Given the description of an element on the screen output the (x, y) to click on. 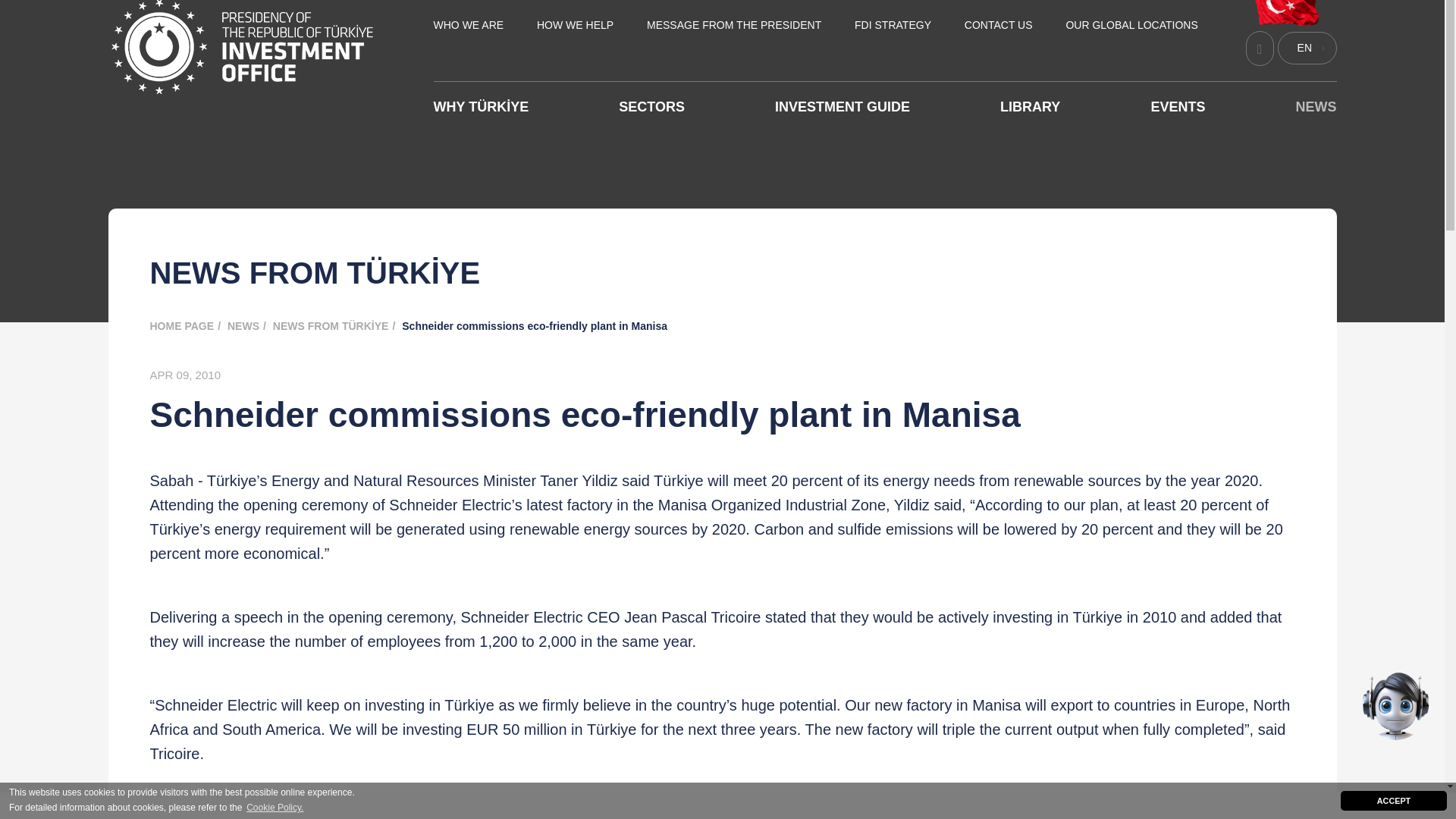
SECTORS (651, 106)
MESSAGE FROM THE PRESIDENT (733, 25)
EVENTS (1177, 106)
LIBRARY (1029, 106)
Cookie Policy. (274, 781)
CONTACT US (997, 25)
NEWS (248, 326)
HOW WE HELP (574, 25)
FDI STRATEGY (892, 25)
OUR GLOBAL LOCATIONS (1130, 25)
INVESTMENT GUIDE (842, 106)
Schneider commissions eco-friendly plant in Manisa (538, 326)
HOME PAGE (187, 326)
EN (1306, 47)
NEWS (1315, 106)
